Given the description of an element on the screen output the (x, y) to click on. 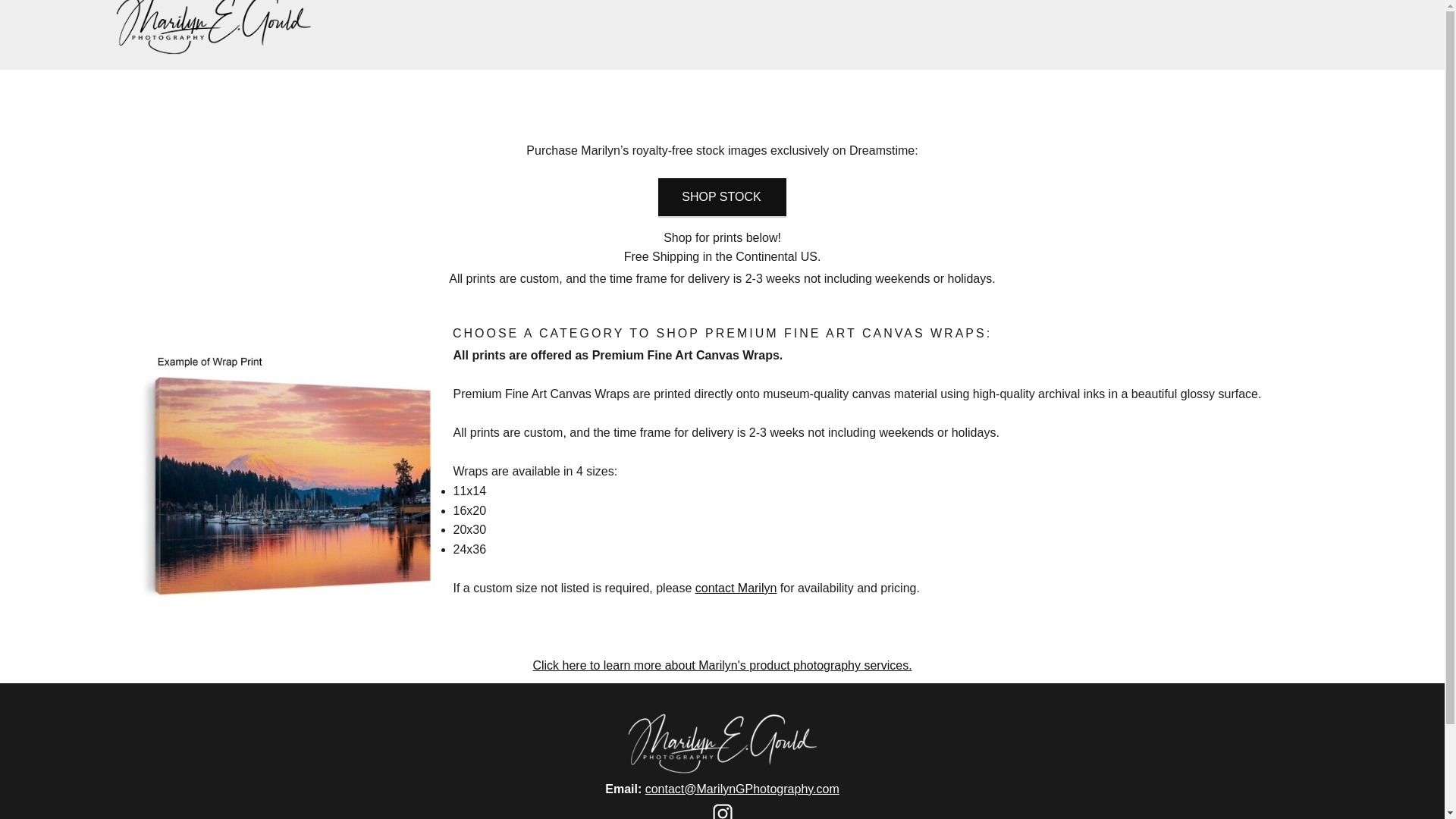
Shop Prints (916, 42)
Meet Marilyn (962, 42)
Welcome (893, 42)
Product Photography (939, 42)
contact Marilyn (736, 587)
Contact (984, 42)
SHOP STOCK (722, 195)
Go to site home page (213, 27)
